Given the description of an element on the screen output the (x, y) to click on. 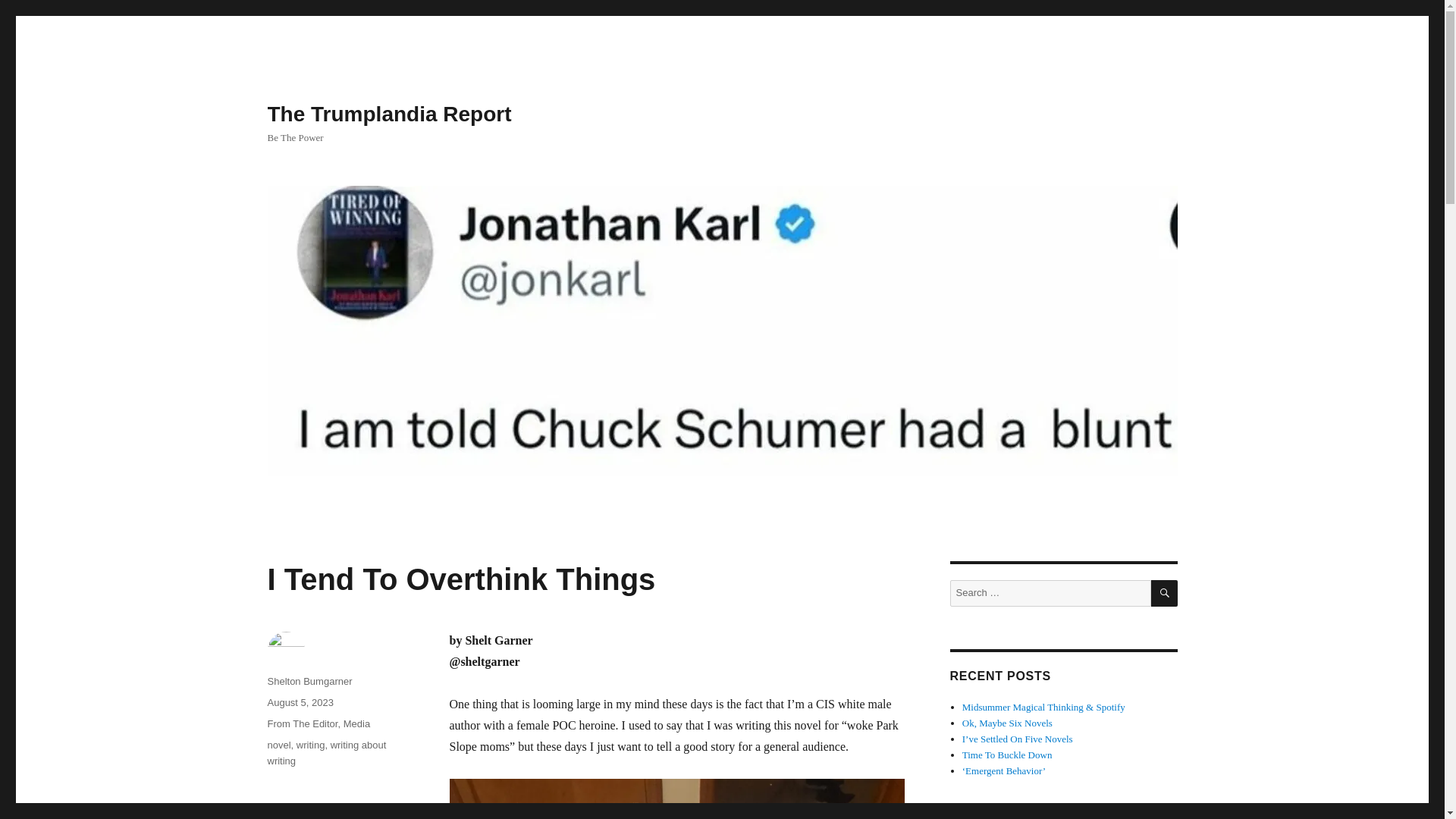
Ok, Maybe Six Novels (1007, 722)
writing (310, 745)
writing about writing (325, 752)
August 5, 2023 (299, 702)
From The Editor (301, 723)
Time To Buckle Down (1007, 754)
SEARCH (1164, 592)
novel (277, 745)
Media (356, 723)
The Trumplandia Report (388, 114)
Shelton Bumgarner (309, 681)
